Given the description of an element on the screen output the (x, y) to click on. 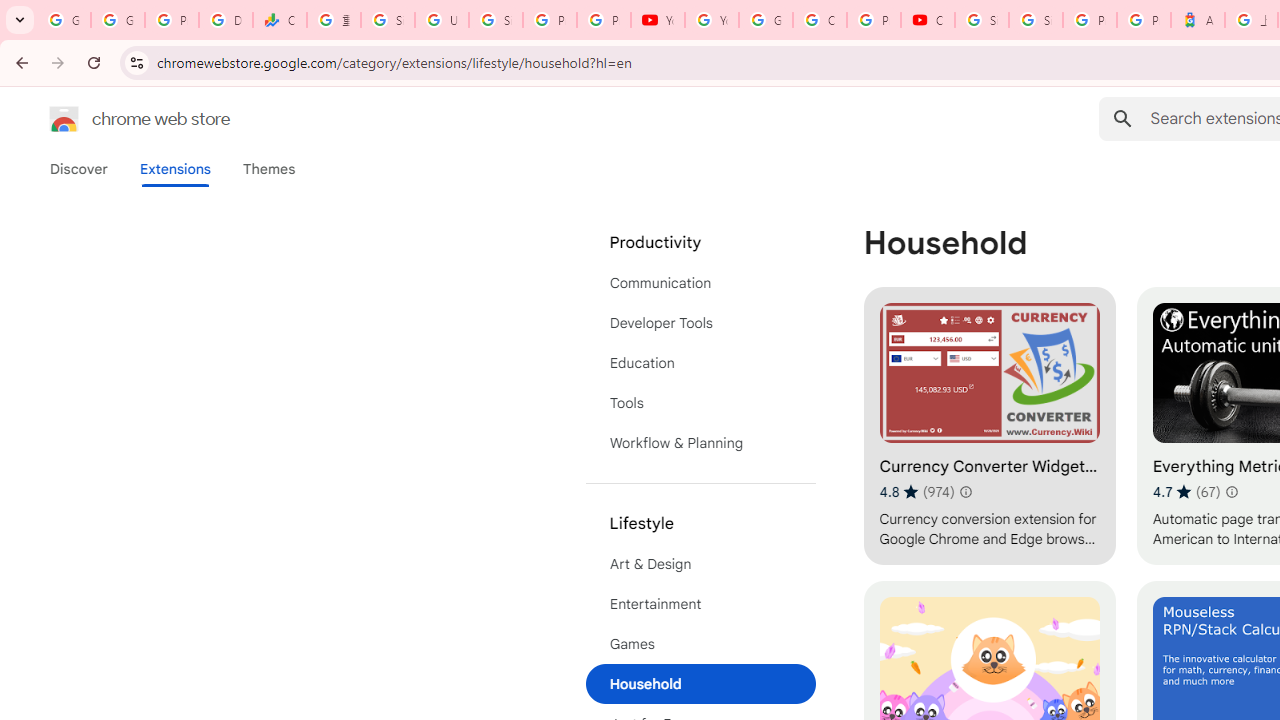
Household (selected) (700, 683)
Average rating 4.8 out of 5 stars. 974 ratings. (916, 491)
Atour Hotel - Google hotels (1197, 20)
Discover (79, 169)
Currencies - Google Finance (280, 20)
Entertainment (700, 603)
Workflow & Planning (700, 442)
Google Account Help (765, 20)
Content Creator Programs & Opportunities - YouTube Creators (927, 20)
Sign in - Google Accounts (387, 20)
